Given the description of an element on the screen output the (x, y) to click on. 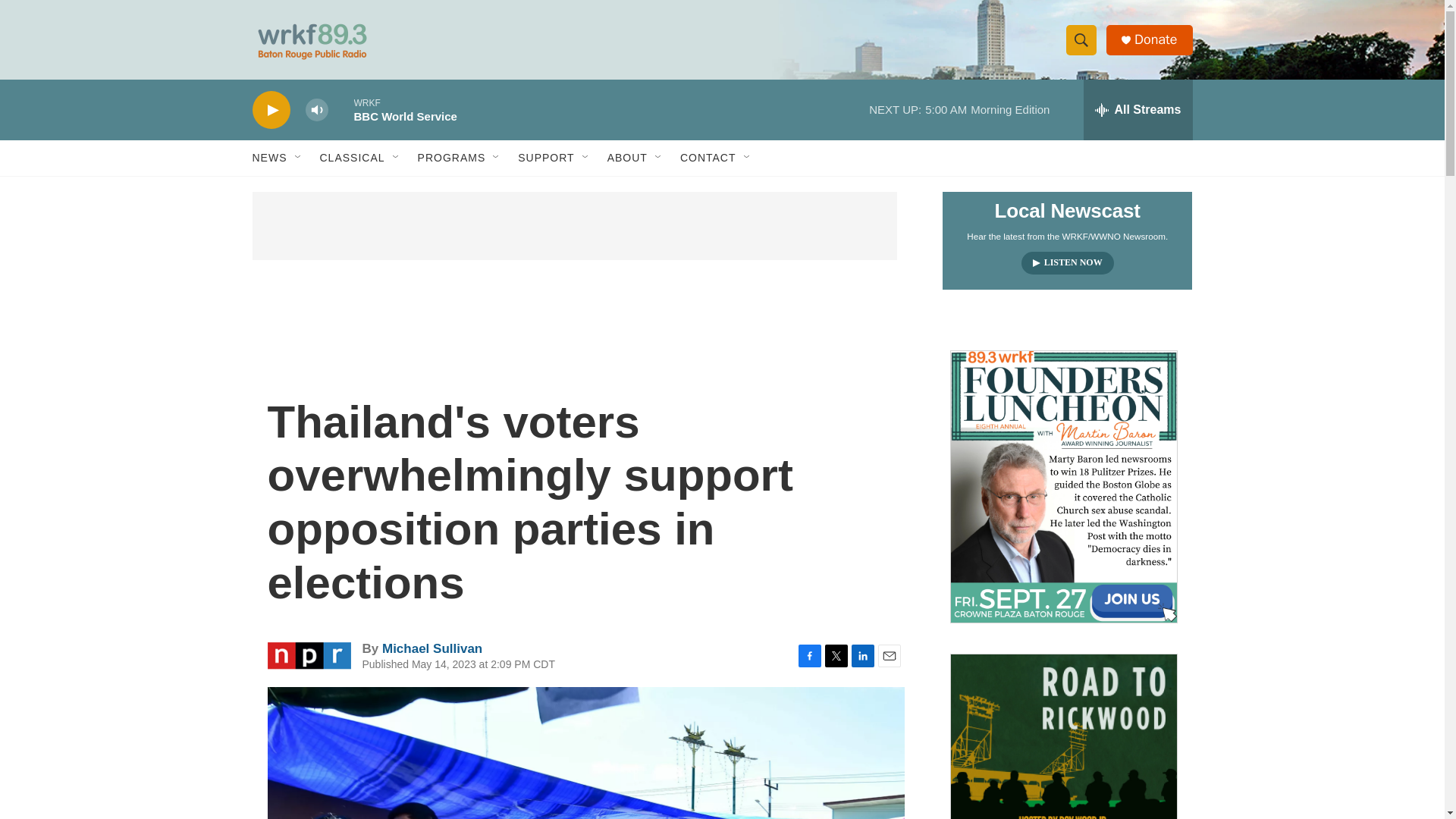
3rd party ad content (574, 225)
